Given the description of an element on the screen output the (x, y) to click on. 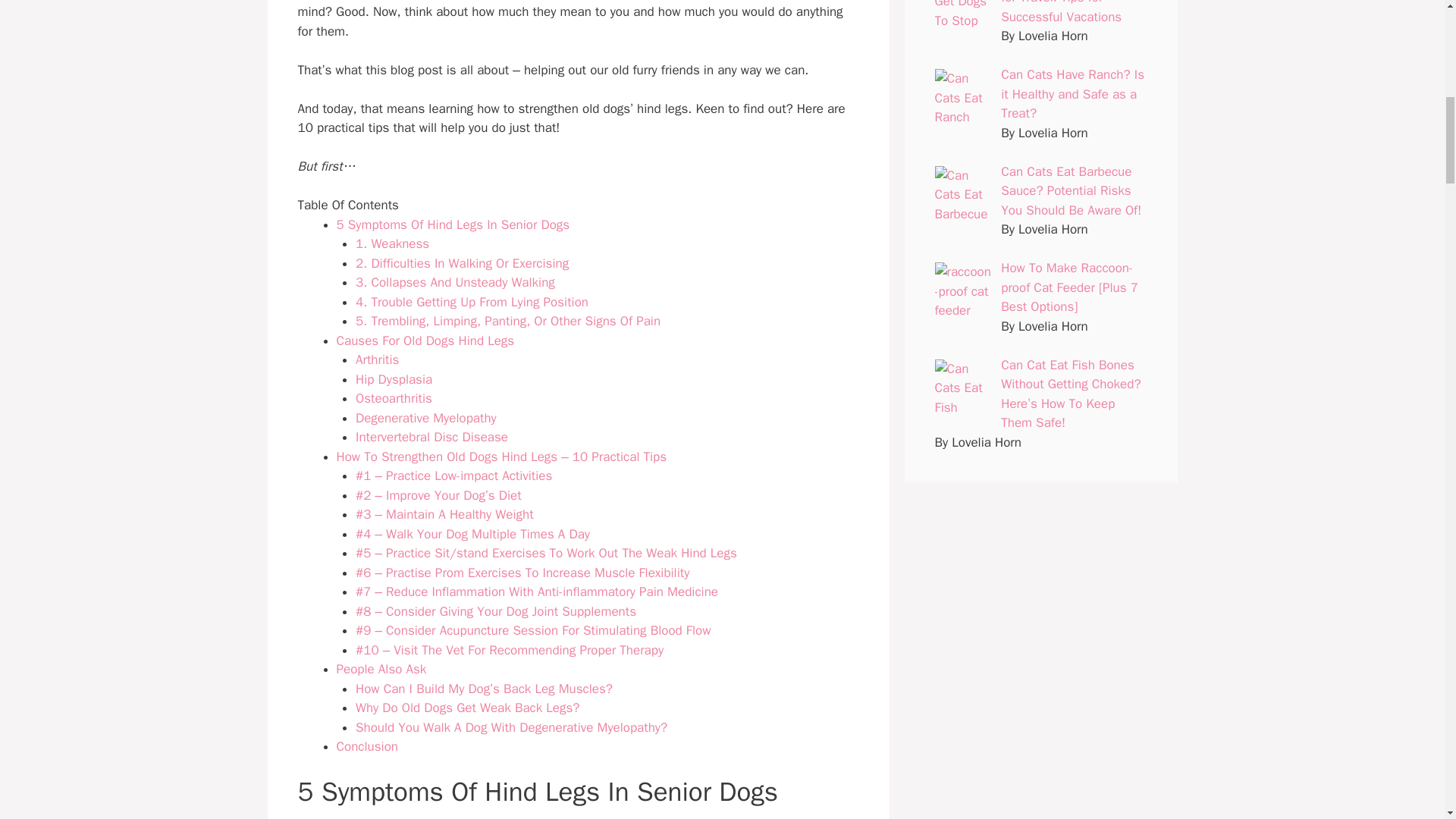
3. Collapses And Unsteady Walking (454, 282)
Arthritis (376, 359)
Osteoarthritis (393, 398)
2. Difficulties In Walking Or Exercising (462, 263)
5. Trembling, Limping, Panting, Or Other Signs Of Pain (508, 320)
Causes For Old Dogs Hind Legs  (427, 340)
Degenerative Myelopathy  (427, 417)
Intervertebral Disc Disease (431, 437)
Hip Dysplasia (393, 379)
1. Weakness (392, 243)
4. Trouble Getting Up From Lying Position (471, 302)
5 Symptoms Of Hind Legs In Senior Dogs (453, 224)
